Given the description of an element on the screen output the (x, y) to click on. 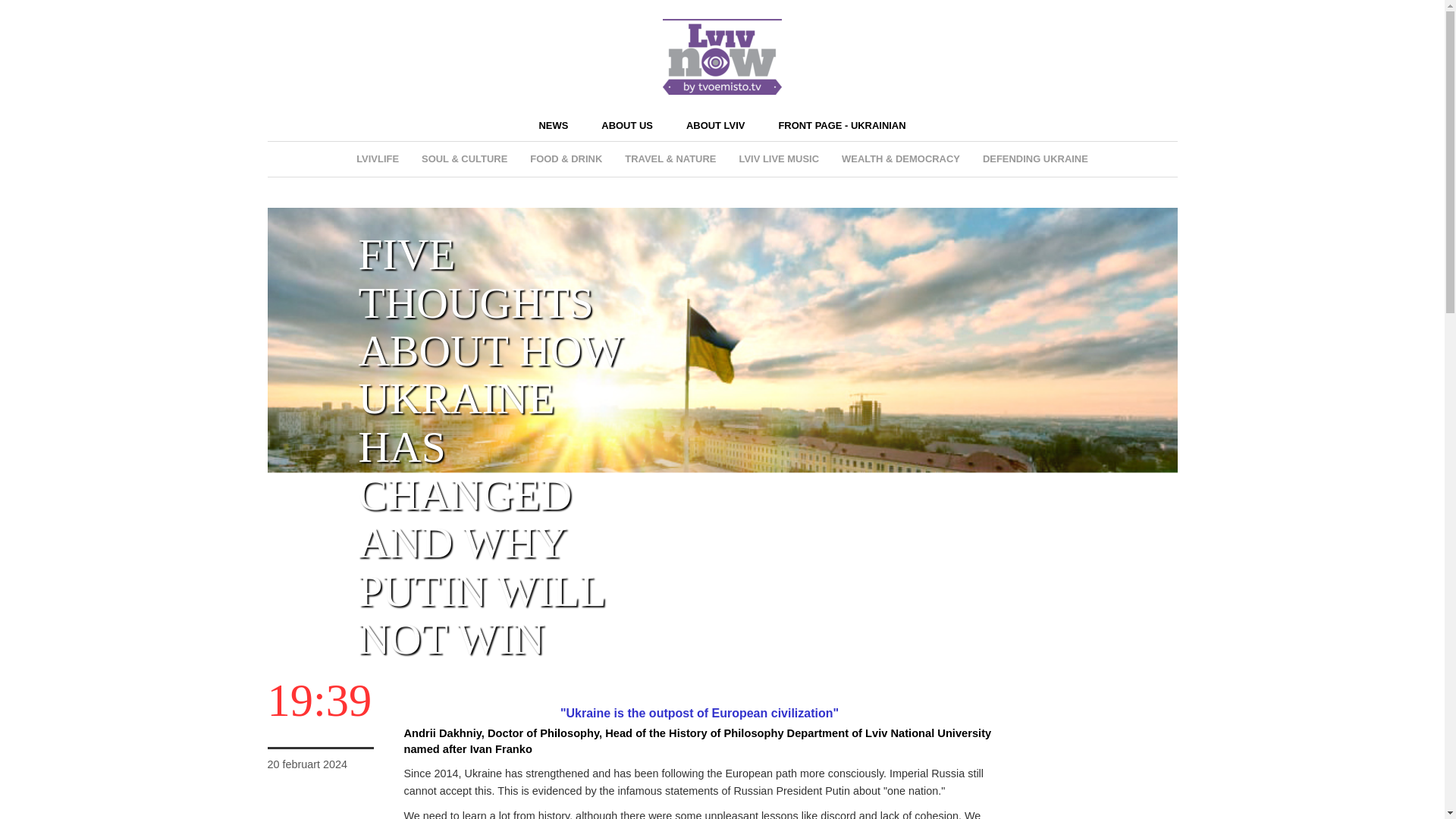
FRONT PAGE - UKRAINIAN (841, 125)
ABOUT LVIV (714, 125)
ABOUT US (626, 125)
LVIV LIVE MUSIC (777, 159)
NEWS (552, 125)
LVIVLIFE (377, 159)
DEFENDING UKRAINE (1035, 159)
